Given the description of an element on the screen output the (x, y) to click on. 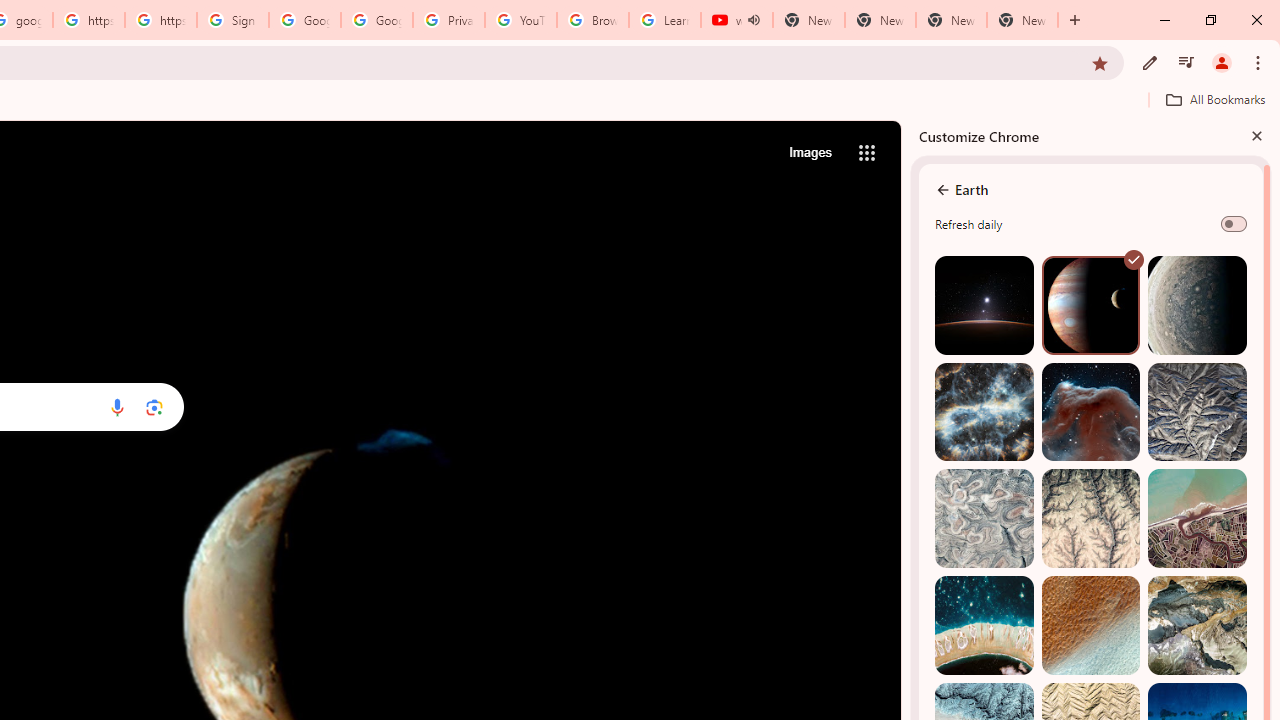
Trarza, Mauritania (1090, 625)
Refresh daily (1233, 223)
Kelan, Shanxi, China (1197, 412)
Customize Chrome (1149, 62)
The Tuamotu and Gambier Islands, French Polynesia (984, 625)
Browse Chrome as a guest - Computer - Google Chrome Help (592, 20)
YouTube (520, 20)
Photo by NASA Image Library (1090, 412)
